Given the description of an element on the screen output the (x, y) to click on. 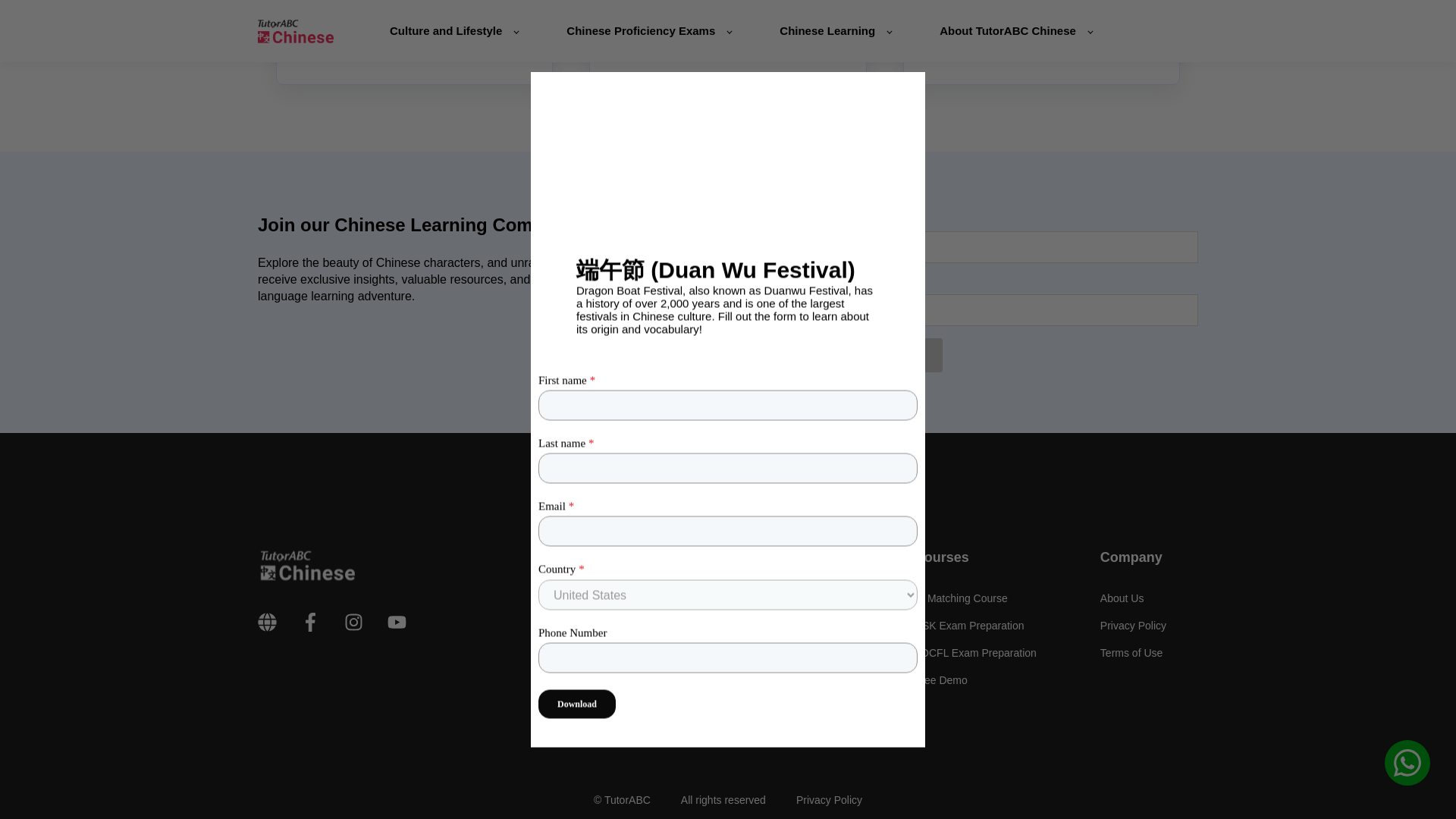
Subscribe (899, 355)
